Given the description of an element on the screen output the (x, y) to click on. 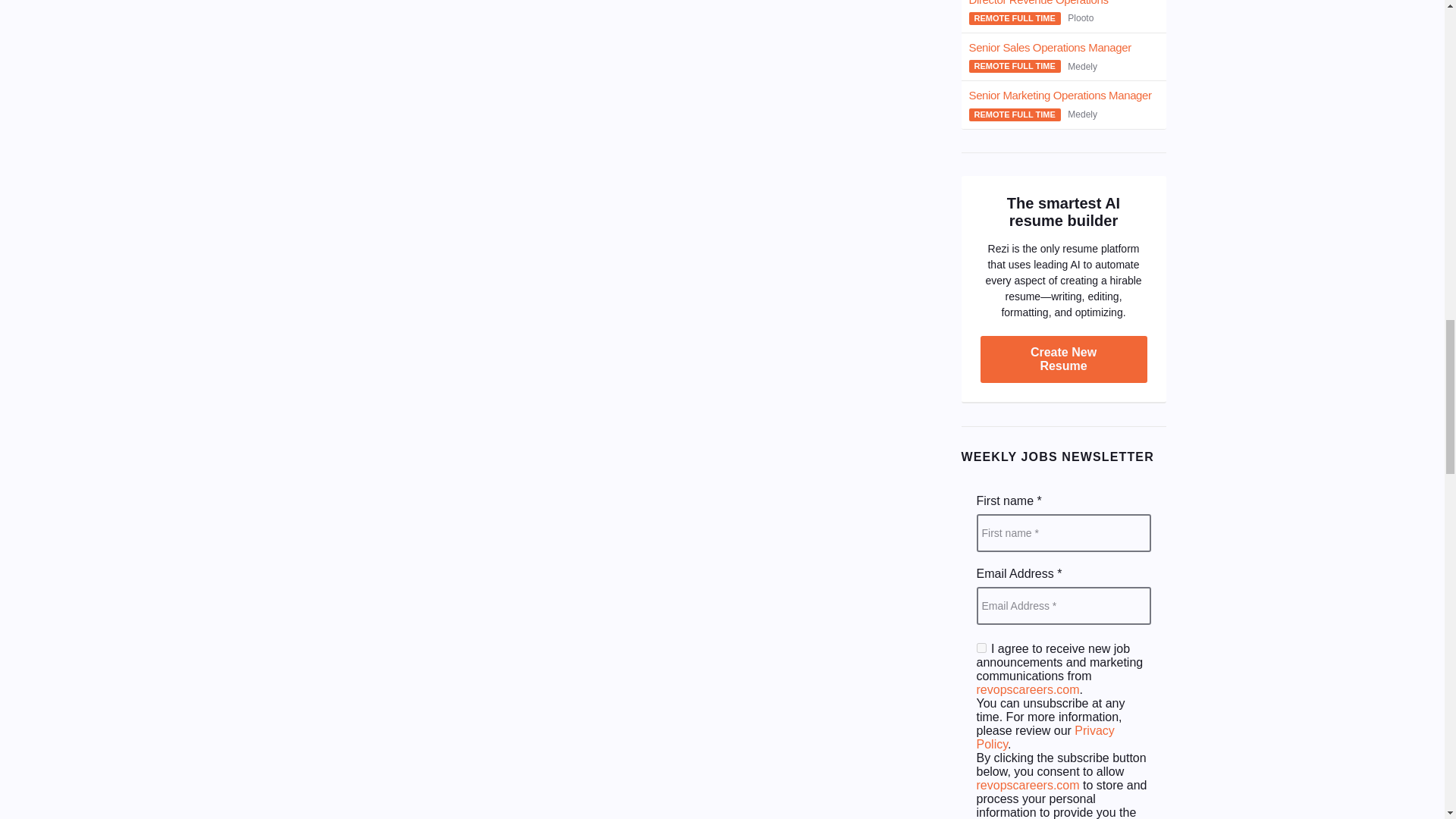
1 (981, 647)
First name (1063, 533)
Email Address (1063, 605)
